Given the description of an element on the screen output the (x, y) to click on. 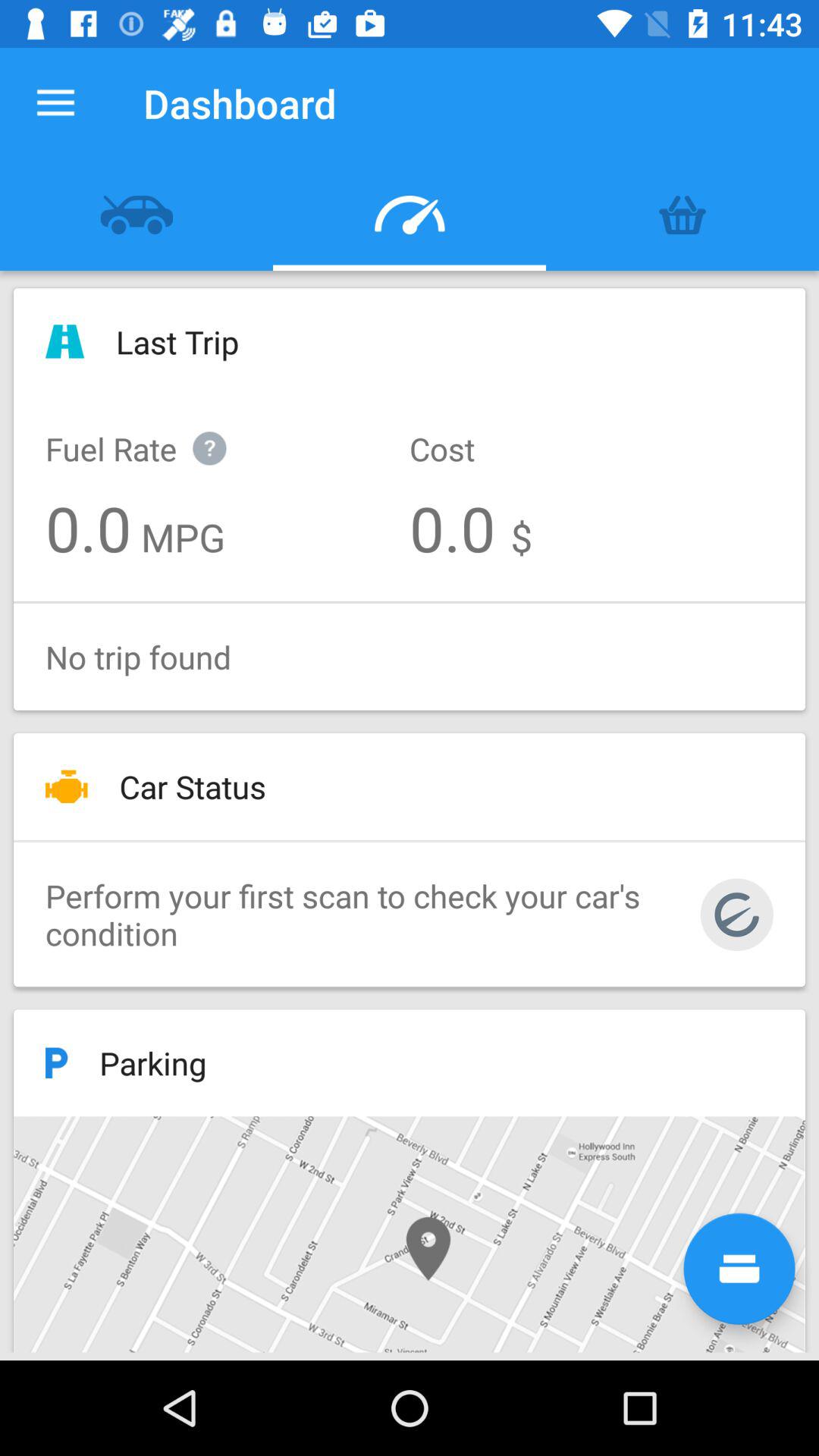
select the item above the last trip (682, 214)
